Given the description of an element on the screen output the (x, y) to click on. 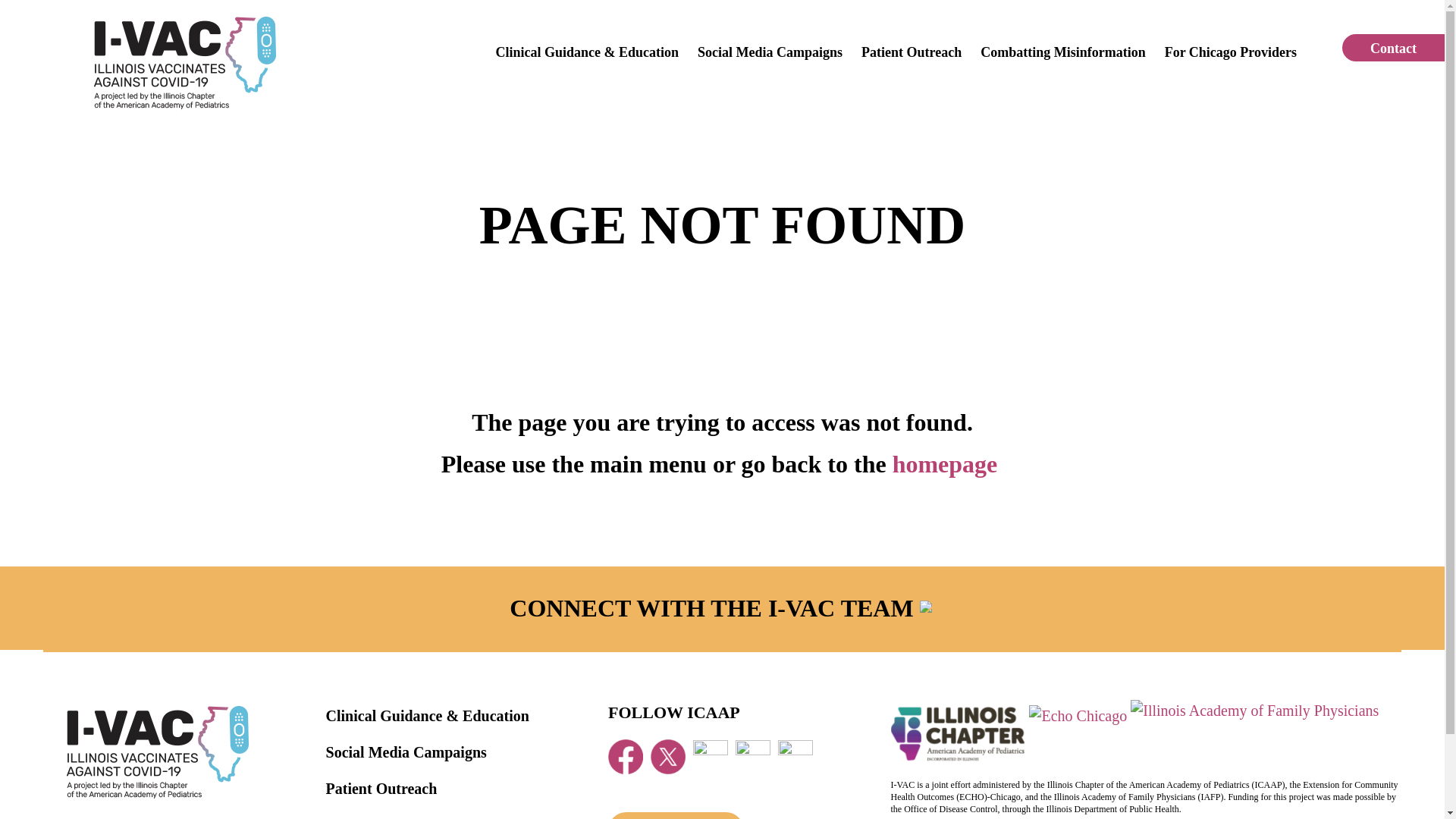
Contact Us (676, 815)
Social Media Campaigns (406, 751)
Patient Outreach (382, 788)
CONNECT WITH THE I-VAC TEAM (721, 607)
Combatting Misinformation (1062, 50)
For Chicago Providers (1230, 50)
Combatting Misinformation (417, 817)
homepage  (948, 463)
Social Media Campaigns (770, 50)
Patient Outreach (910, 50)
